Given the description of an element on the screen output the (x, y) to click on. 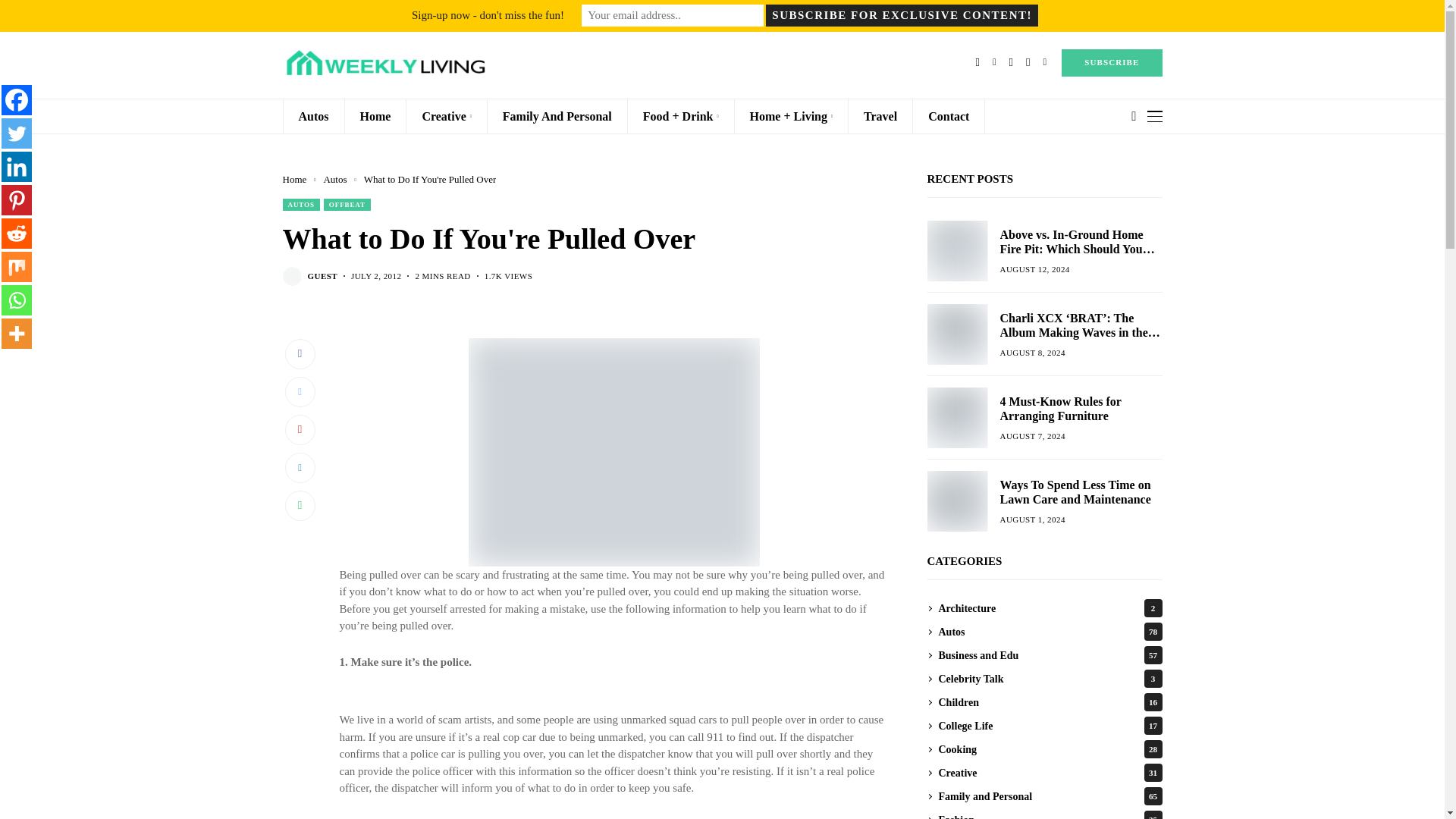
Linkedin (16, 166)
Travel (880, 116)
Contact (948, 116)
Reddit (16, 233)
Facebook (16, 100)
Twitter (16, 132)
Contact Us (358, 13)
pulled over by cop (613, 452)
Whatsapp (16, 300)
More (16, 333)
